Given the description of an element on the screen output the (x, y) to click on. 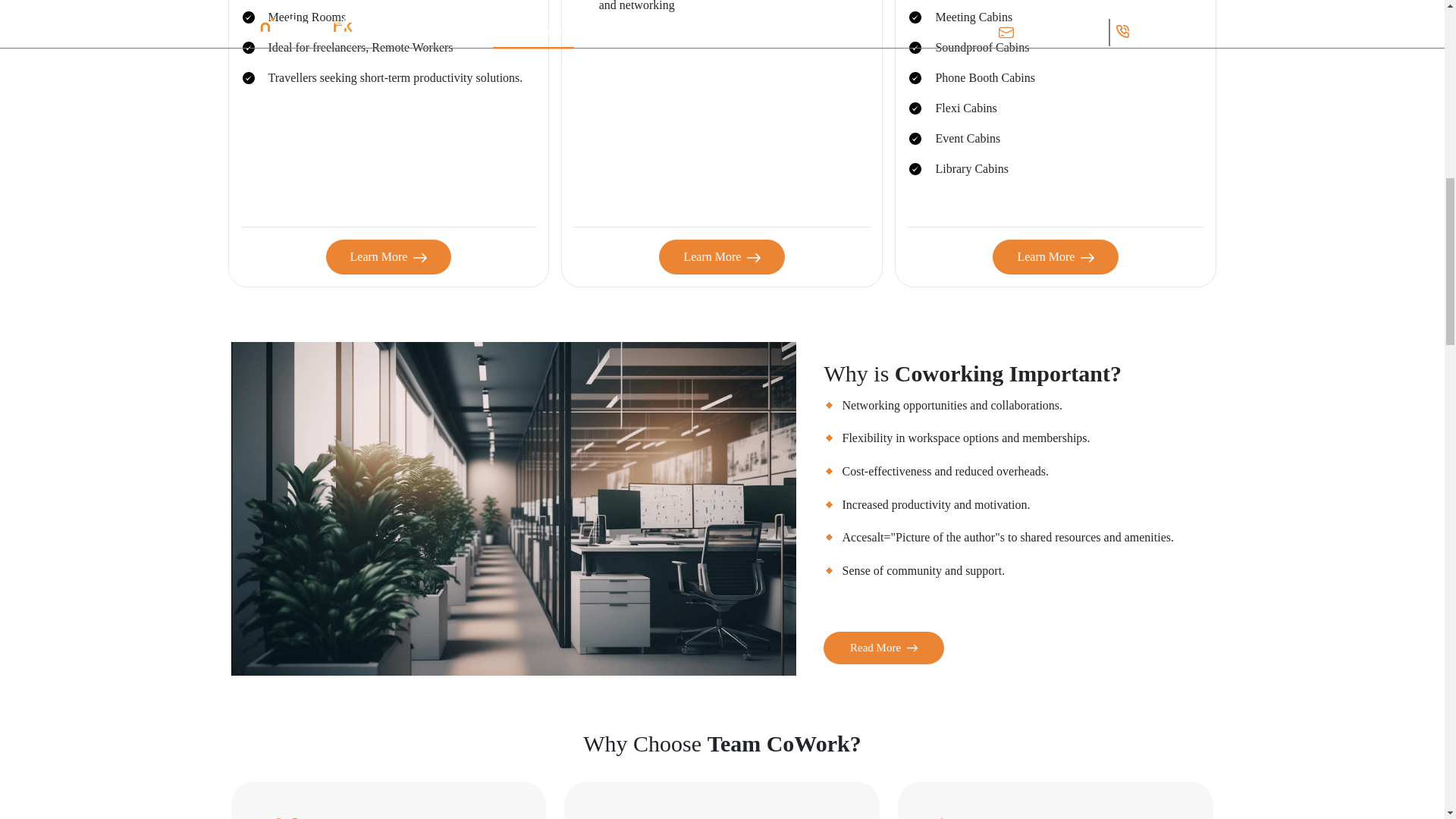
Read More (883, 648)
Learn More (1055, 256)
Learn More (388, 256)
Read More (883, 644)
Learn More (721, 256)
